Given the description of an element on the screen output the (x, y) to click on. 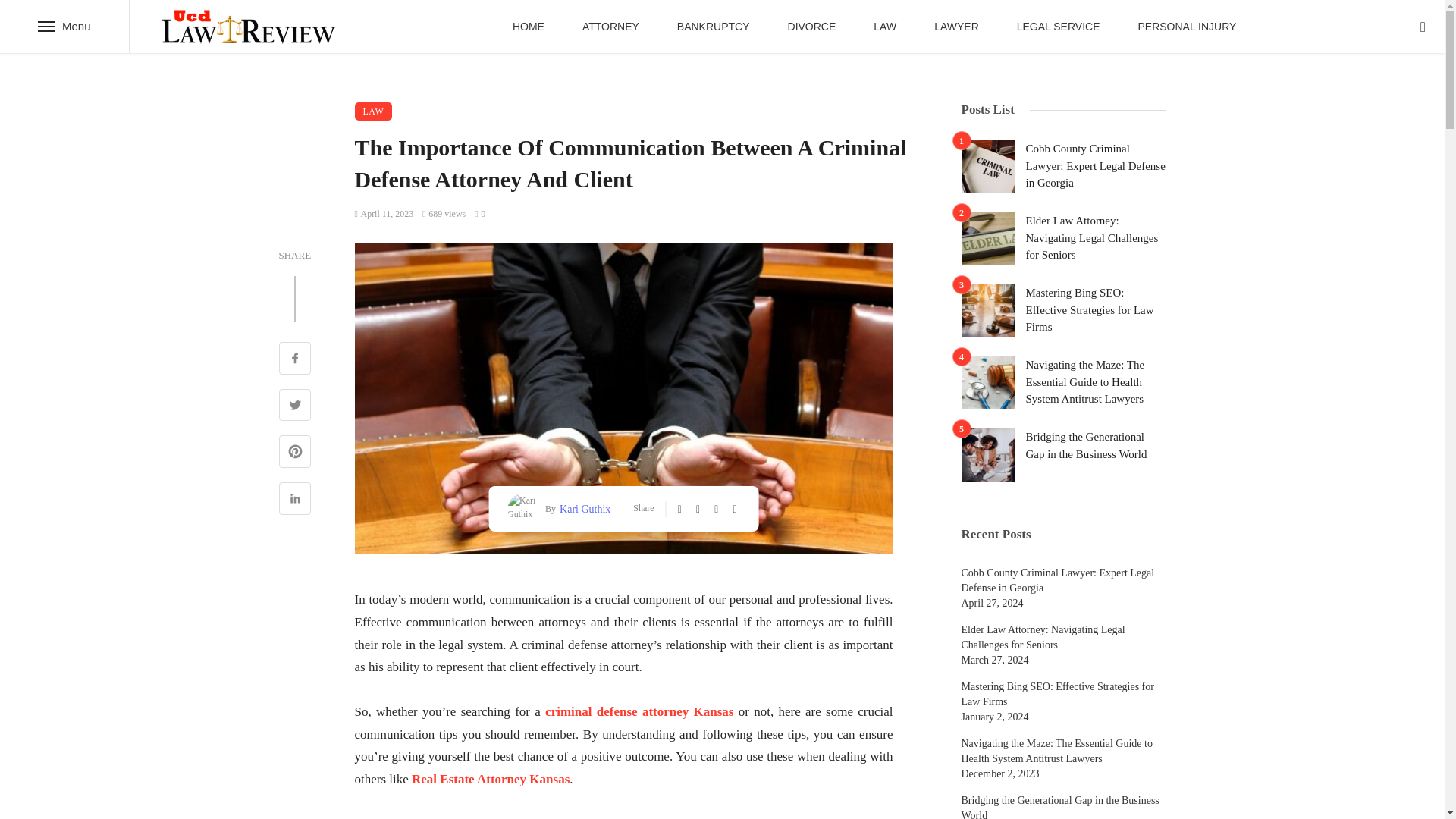
LEGAL SERVICE (1058, 26)
HOME (528, 26)
0 Comments (479, 213)
Share on Pinterest (295, 452)
ATTORNEY (610, 26)
PERSONAL INJURY (1186, 26)
DIVORCE (812, 26)
BANKRUPTCY (713, 26)
Share on Linkedin (295, 500)
Kari Guthix (583, 508)
Real Estate Attorney Kansas (490, 779)
LAW (374, 111)
criminal defense attorney Kansas (638, 711)
April 11, 2023 at 12:01 am (384, 213)
Posts by Kari Guthix (583, 508)
